Given the description of an element on the screen output the (x, y) to click on. 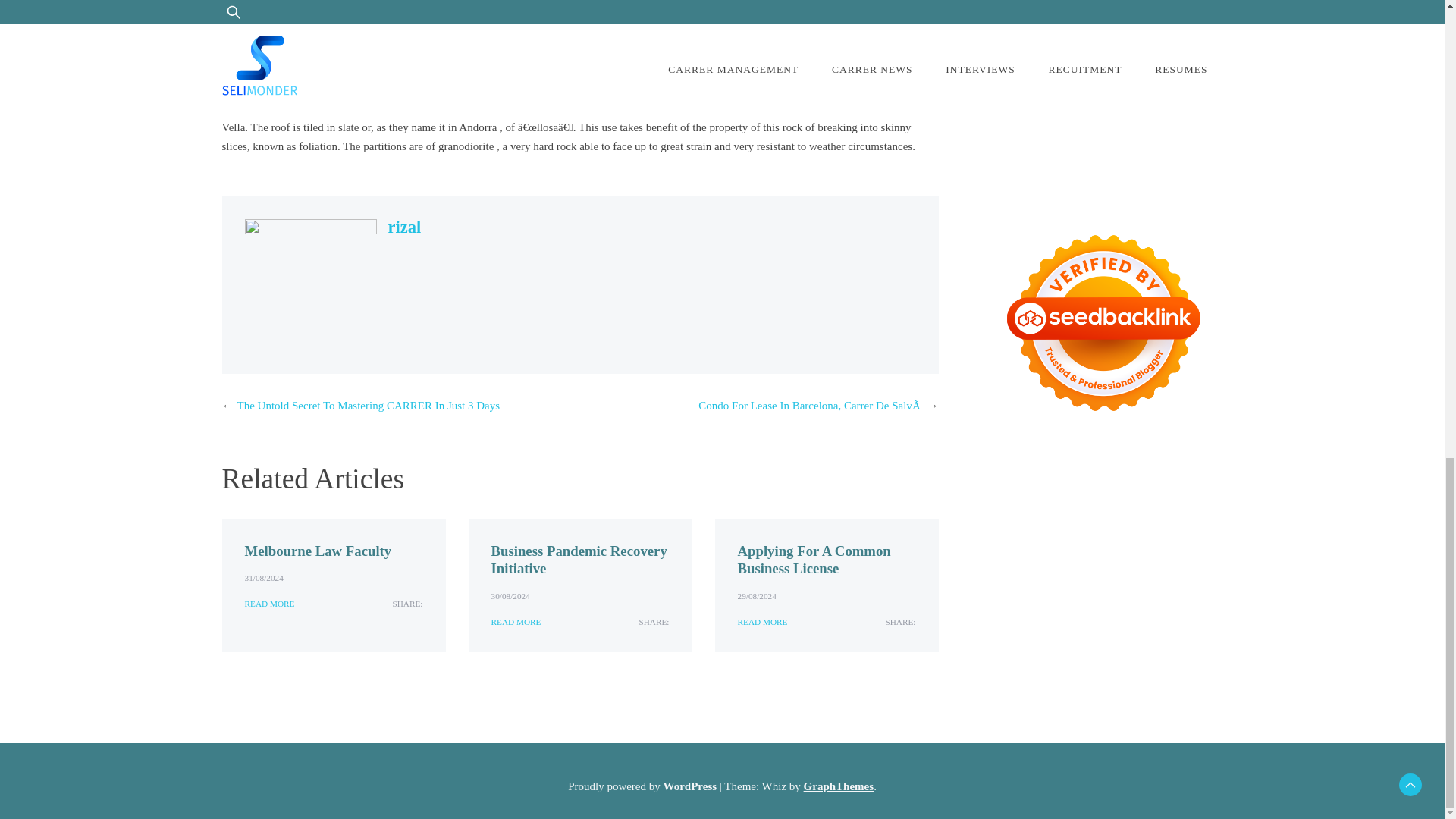
rizal (405, 226)
Melbourne Law Faculty (317, 550)
Seedbacklink (1103, 322)
READ MORE (761, 622)
READ MORE (516, 622)
The Untold Secret To Mastering CARRER In Just 3 Days (367, 405)
Applying For A Common Business License (812, 559)
READ MORE (269, 603)
Business Pandemic Recovery Initiative (579, 559)
